Given the description of an element on the screen output the (x, y) to click on. 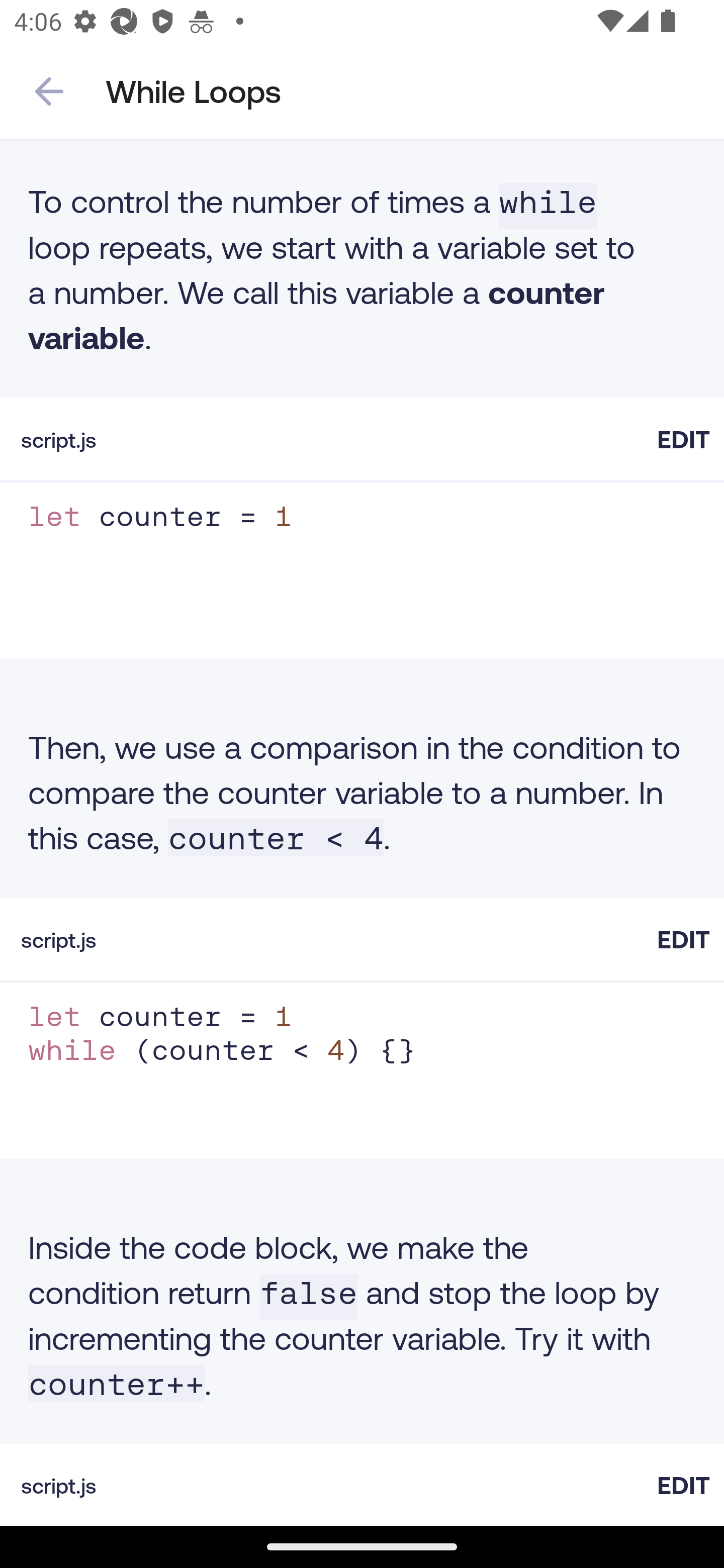
Navigate up (49, 91)
EDIT (683, 438)
EDIT (683, 939)
EDIT (683, 1484)
